Given the description of an element on the screen output the (x, y) to click on. 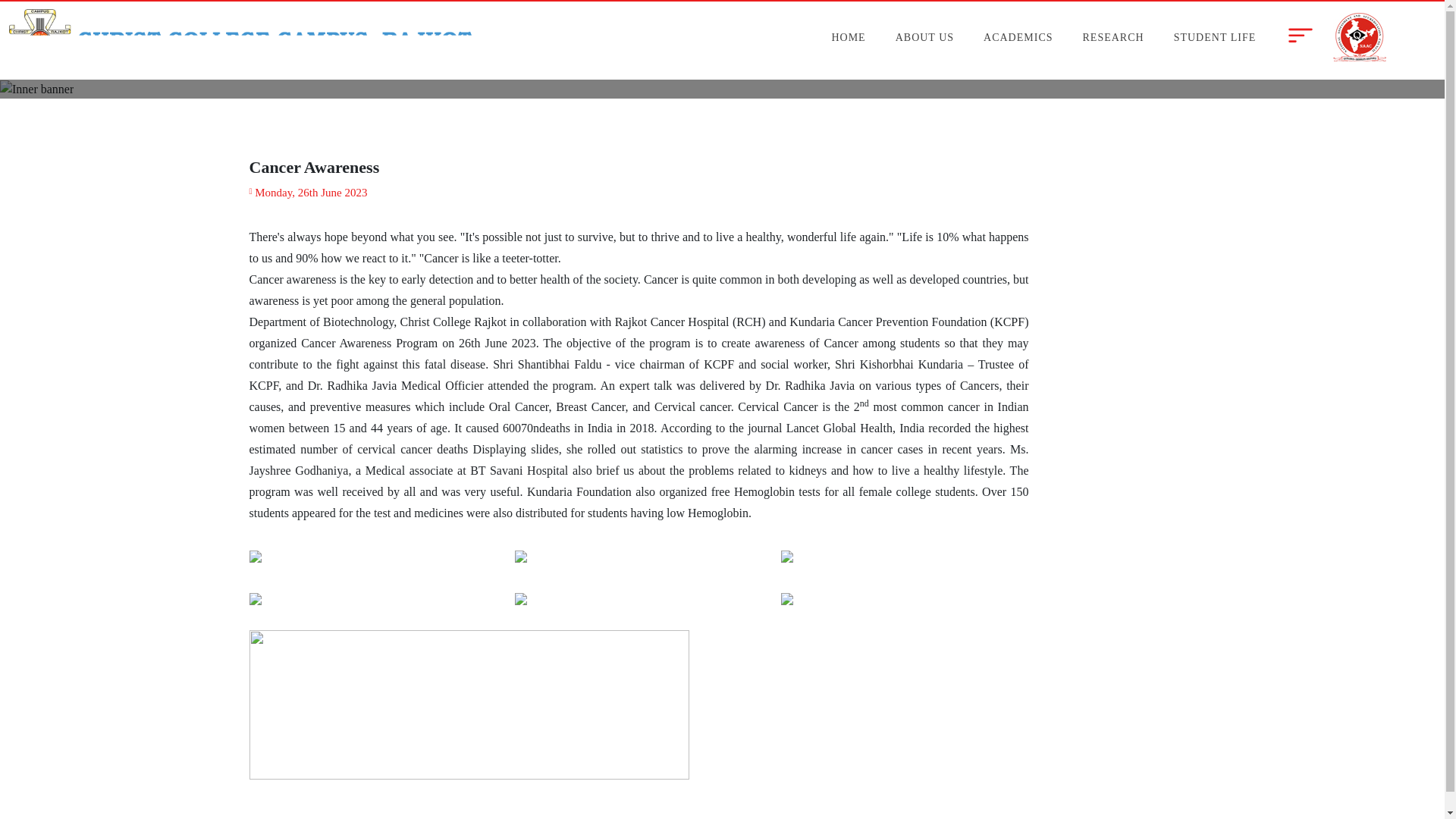
RESEARCH (1115, 37)
ABOUT US (927, 37)
HOME (850, 37)
ACADEMICS (1020, 37)
STUDENT LIFE (1216, 37)
